Given the description of an element on the screen output the (x, y) to click on. 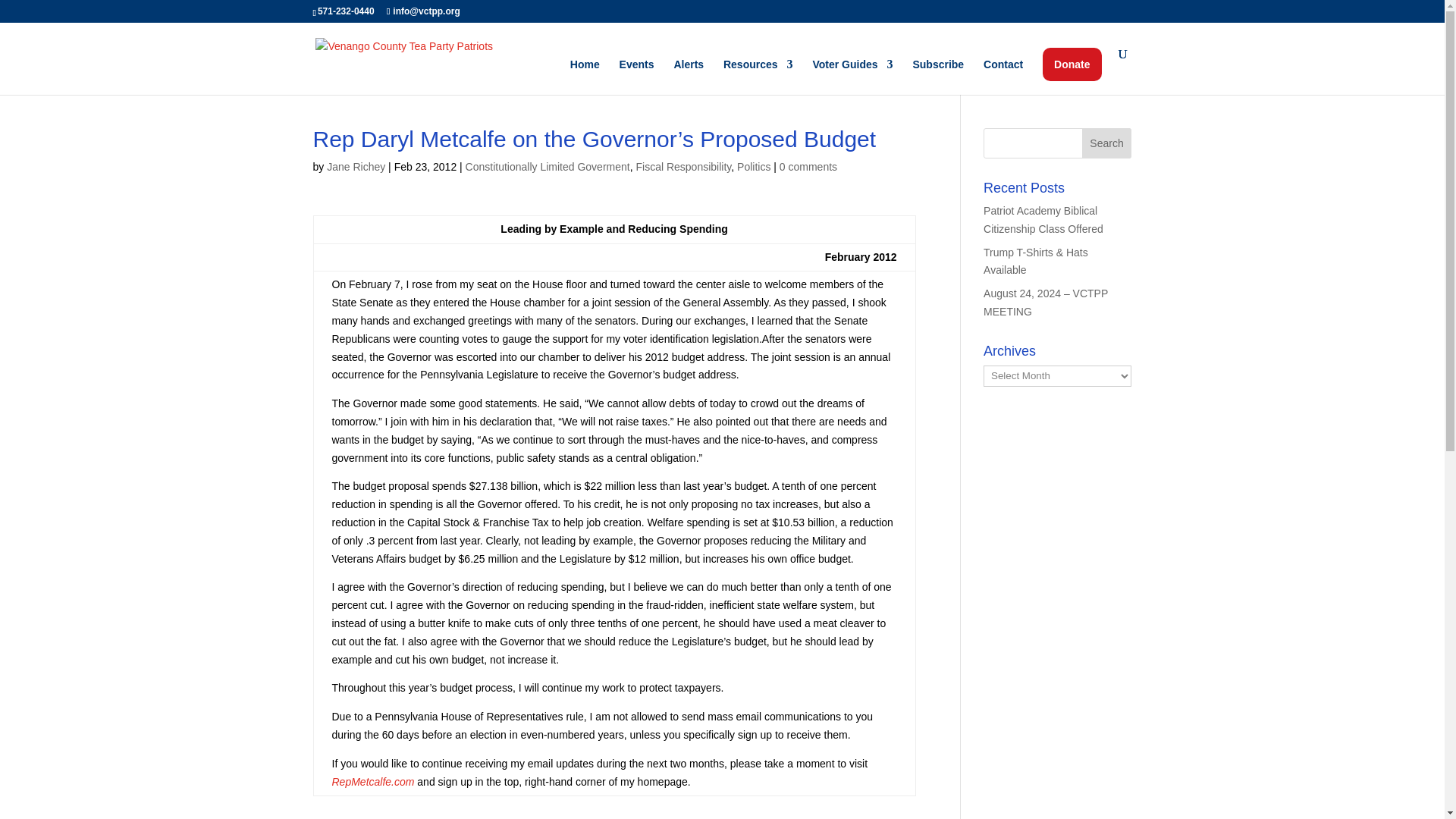
Patriot Academy Biblical Citizenship Class Offered (1043, 219)
Voter Guides (852, 76)
Donate (1071, 64)
0 comments (807, 166)
Fiscal Responsibility (682, 166)
Subscribe (937, 76)
Contact (1003, 76)
Search (1106, 142)
Constitutionally Limited Goverment (547, 166)
Jane Richey (355, 166)
